Given the description of an element on the screen output the (x, y) to click on. 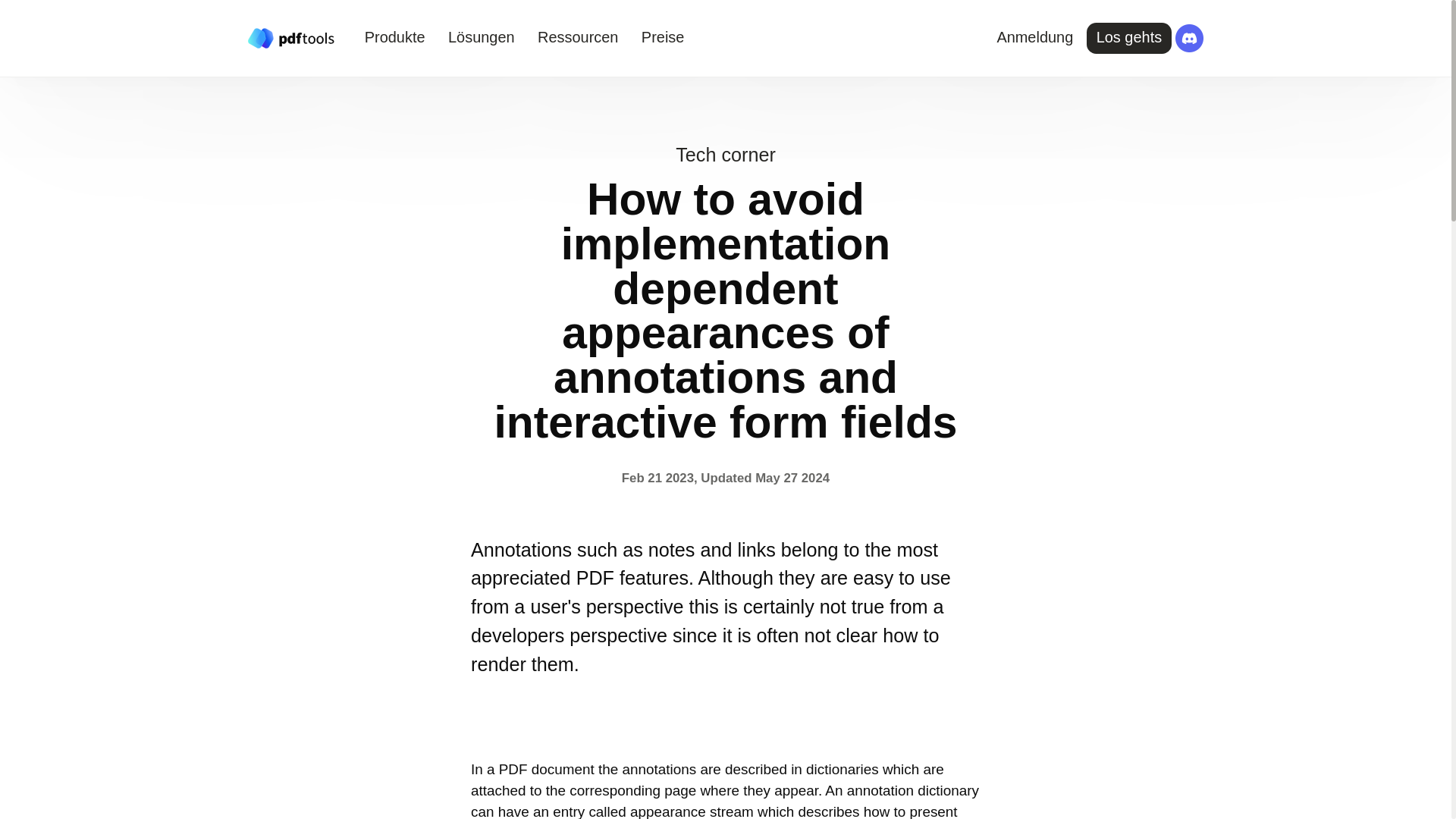
Anmeldung (1035, 38)
Los gehts (1129, 38)
Preise (662, 38)
